Given the description of an element on the screen output the (x, y) to click on. 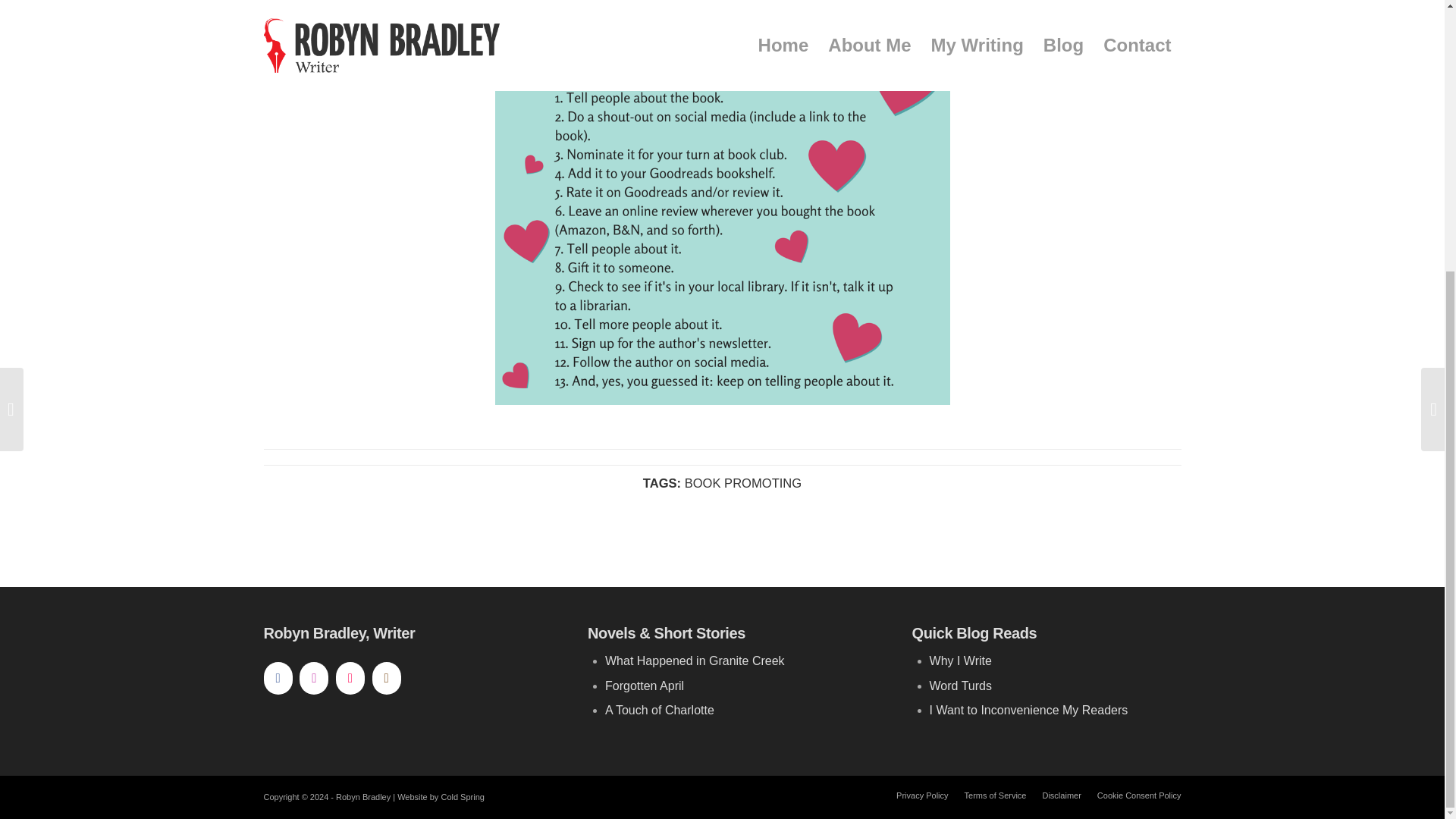
BOOK PROMOTING (743, 482)
Why I Write (960, 660)
Cold Spring (462, 796)
Forgotten April (644, 685)
I Want to Inconvenience My Readers (1029, 709)
What Happened in Granite Creek (694, 660)
Cookie Consent Policy (1138, 795)
A Touch of Charlotte (659, 709)
Disclaimer (1061, 795)
Terms of Service (994, 795)
